Given the description of an element on the screen output the (x, y) to click on. 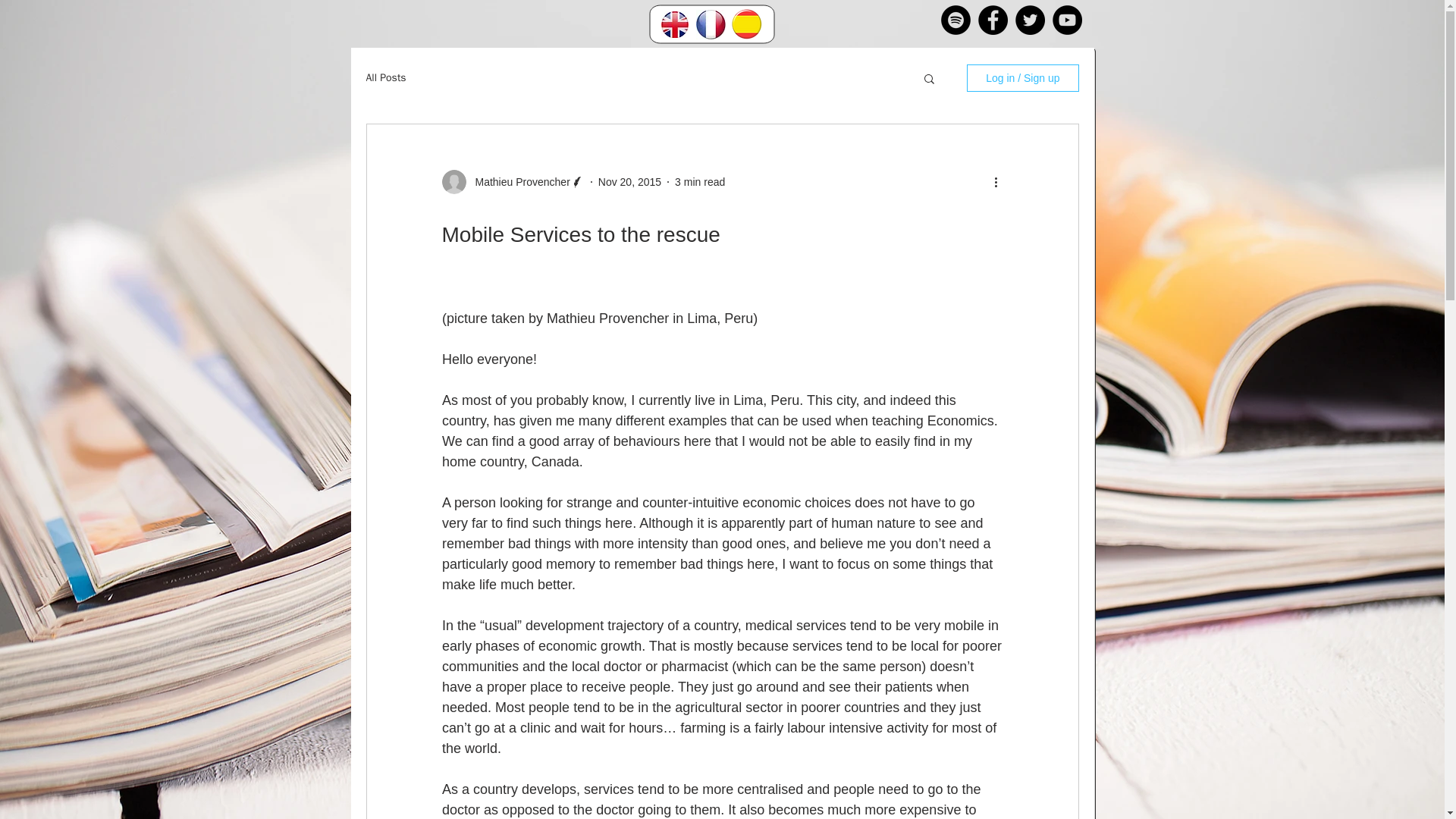
3 min read (700, 182)
Nov 20, 2015 (629, 182)
Mathieu Provencher (517, 182)
All Posts (385, 78)
